Given the description of an element on the screen output the (x, y) to click on. 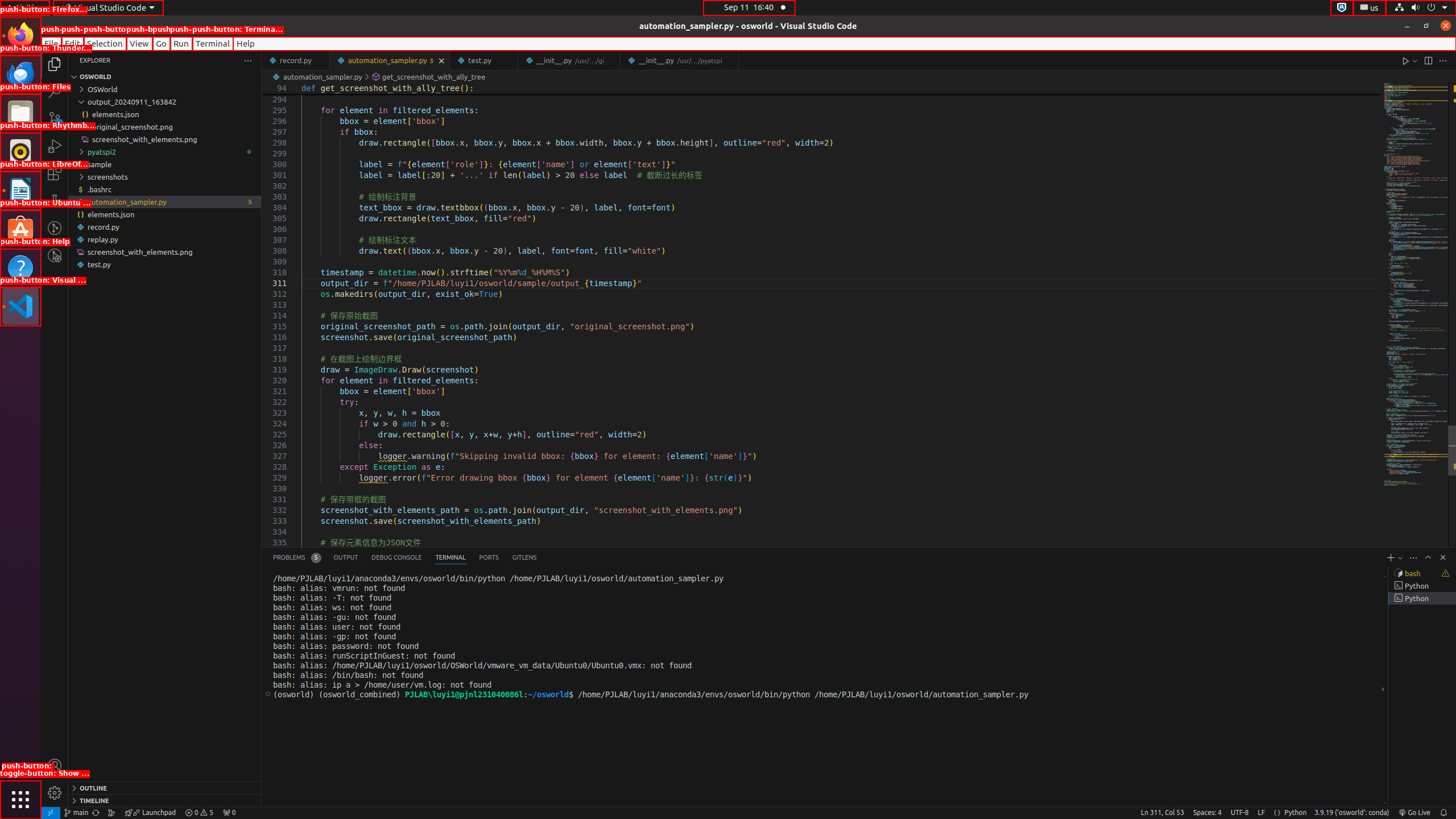
Go Element type: push-button (161, 43)
Terminal Element type: push-button (212, 43)
:1.21/StatusNotifierItem Element type: menu (1369, 7)
